Given the description of an element on the screen output the (x, y) to click on. 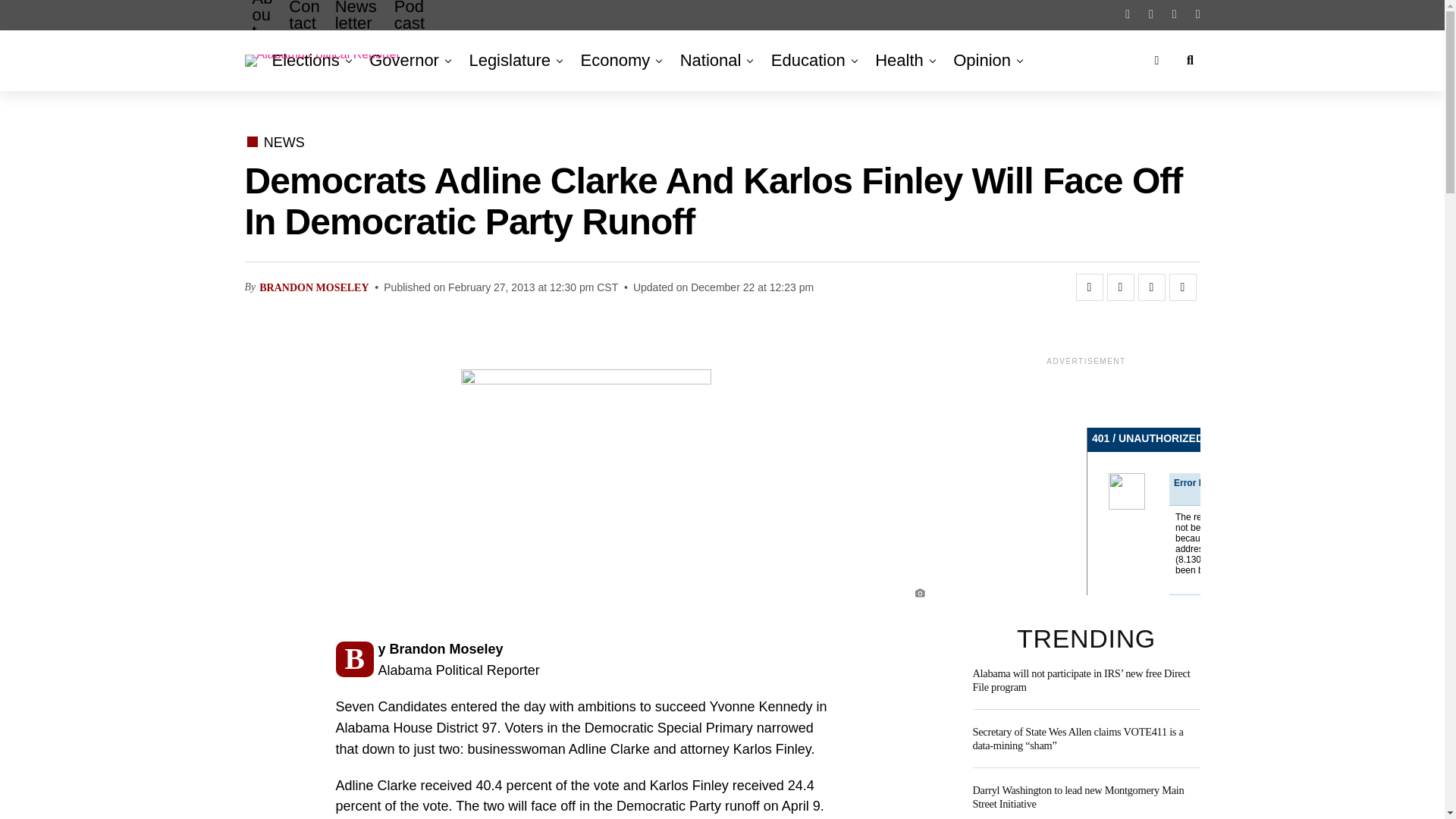
Share on Facebook (1088, 287)
Posts by Brandon Moseley (313, 287)
Tweet This Post (1120, 287)
Elections (308, 60)
Share on Flipboard (1150, 287)
Newsletter (357, 27)
Governor (403, 60)
